Given the description of an element on the screen output the (x, y) to click on. 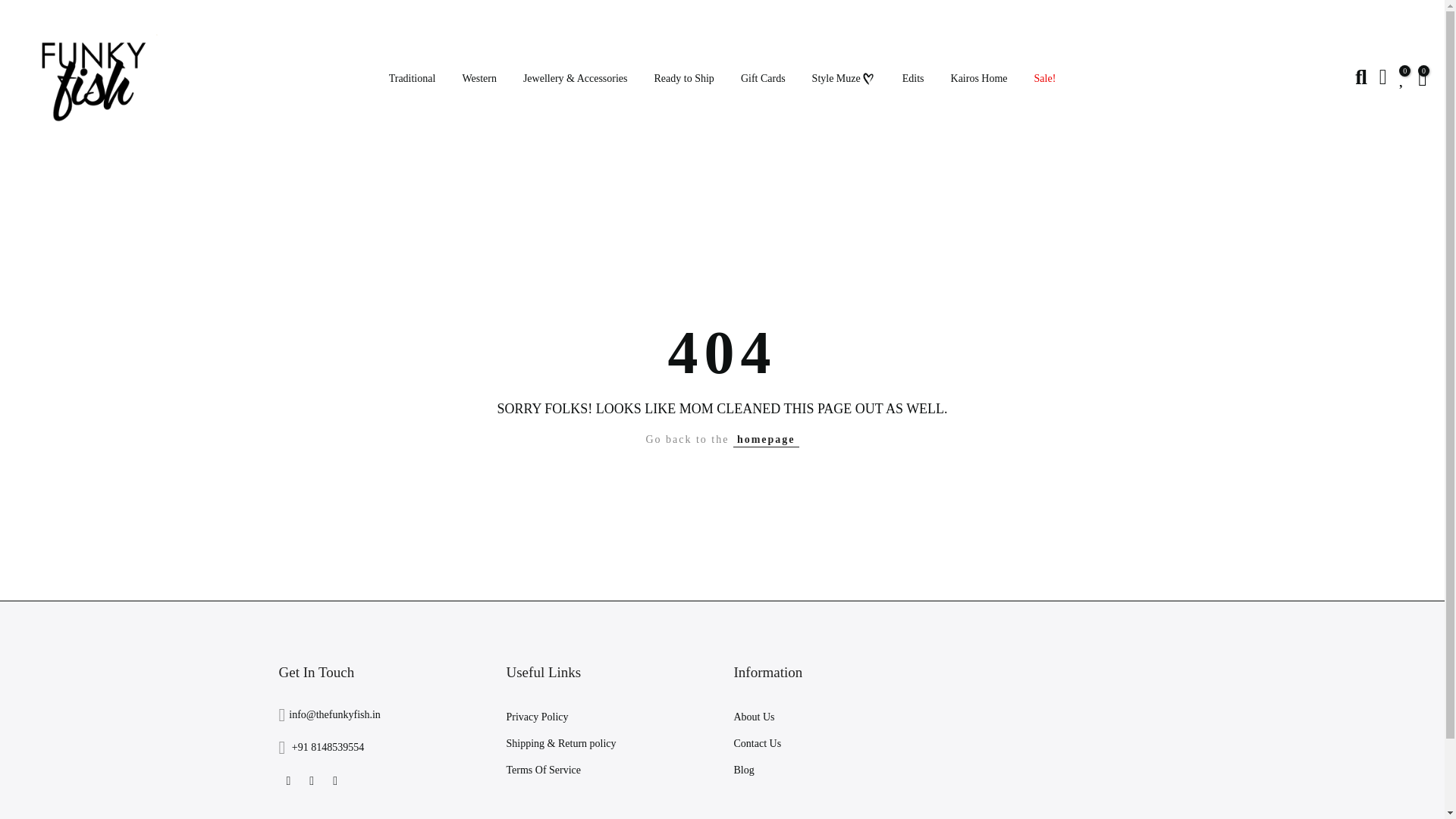
Privacy Policy (537, 716)
Gift Cards (761, 78)
Ready to Ship (683, 78)
homepage (766, 439)
Western (479, 78)
Edits (912, 78)
Style Muze (842, 78)
Blog (743, 769)
Kairos Home (978, 78)
Contact Us (757, 743)
Sale! (1044, 78)
About Us (753, 716)
Traditional (411, 78)
Terms Of Service (543, 769)
